Given the description of an element on the screen output the (x, y) to click on. 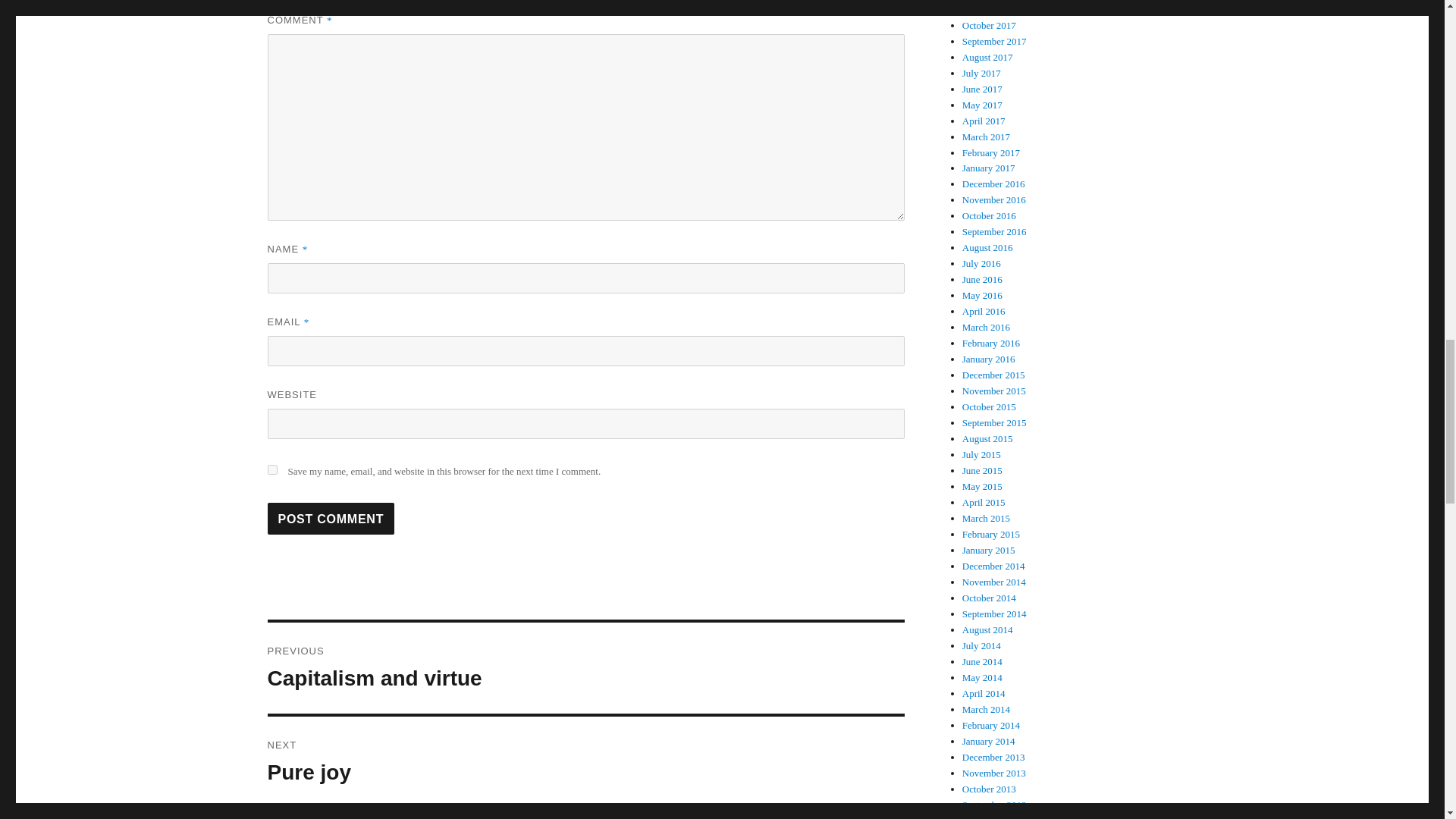
Post Comment (330, 518)
Post Comment (585, 761)
yes (585, 667)
